Given the description of an element on the screen output the (x, y) to click on. 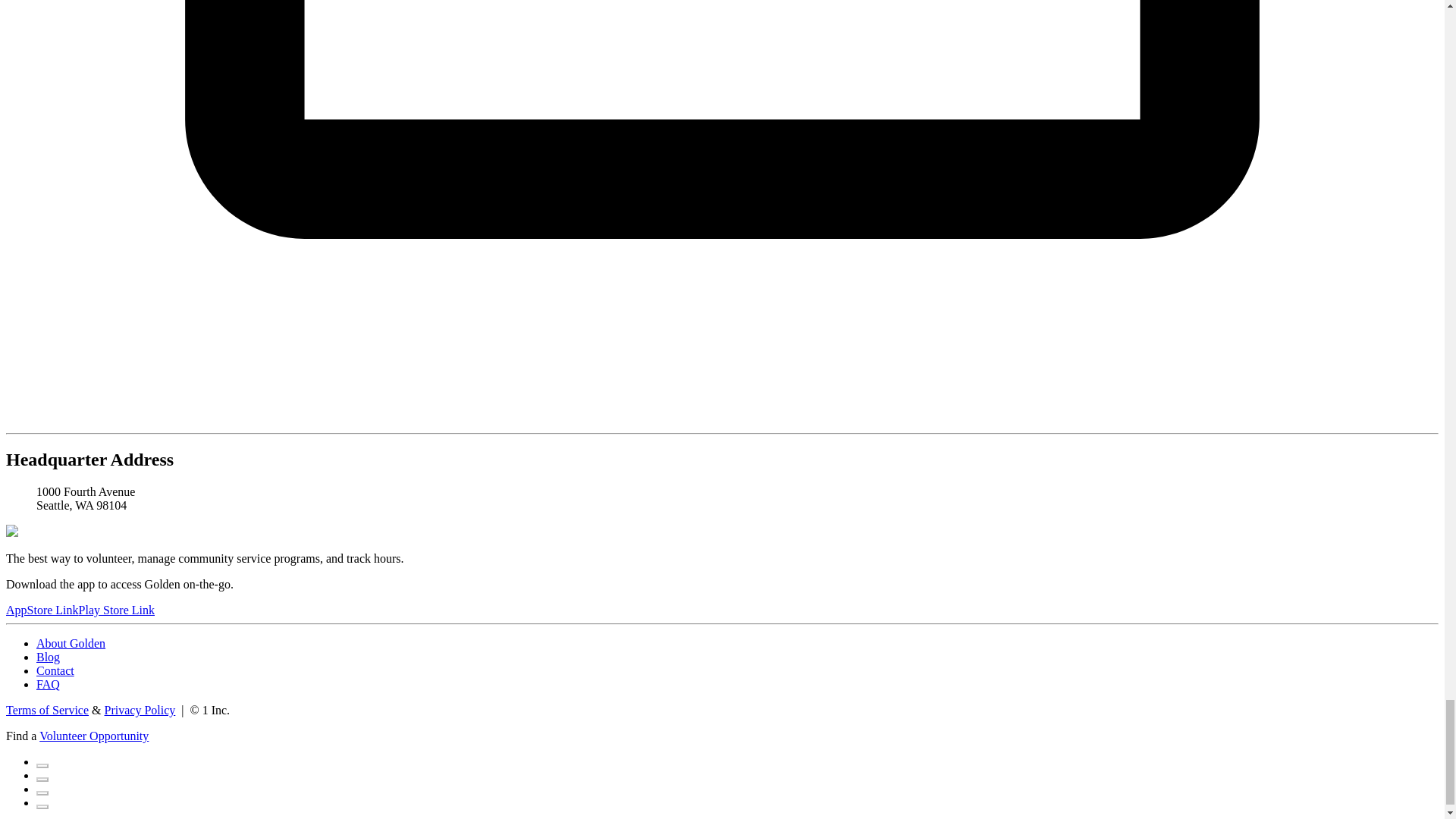
Privacy Policy (140, 709)
AppStore Link (41, 609)
Volunteer Opportunity (93, 735)
Volunteer Opportunity (93, 735)
About Golden (70, 643)
FAQ (47, 684)
Play Store Link (116, 609)
Visit Us On Facebook (42, 761)
Visit Us On Twitter (42, 775)
Visit Us On Instagram (42, 788)
Blog (47, 656)
Blog (47, 656)
Contact (55, 670)
Contact (55, 670)
FAQ (47, 684)
